Given the description of an element on the screen output the (x, y) to click on. 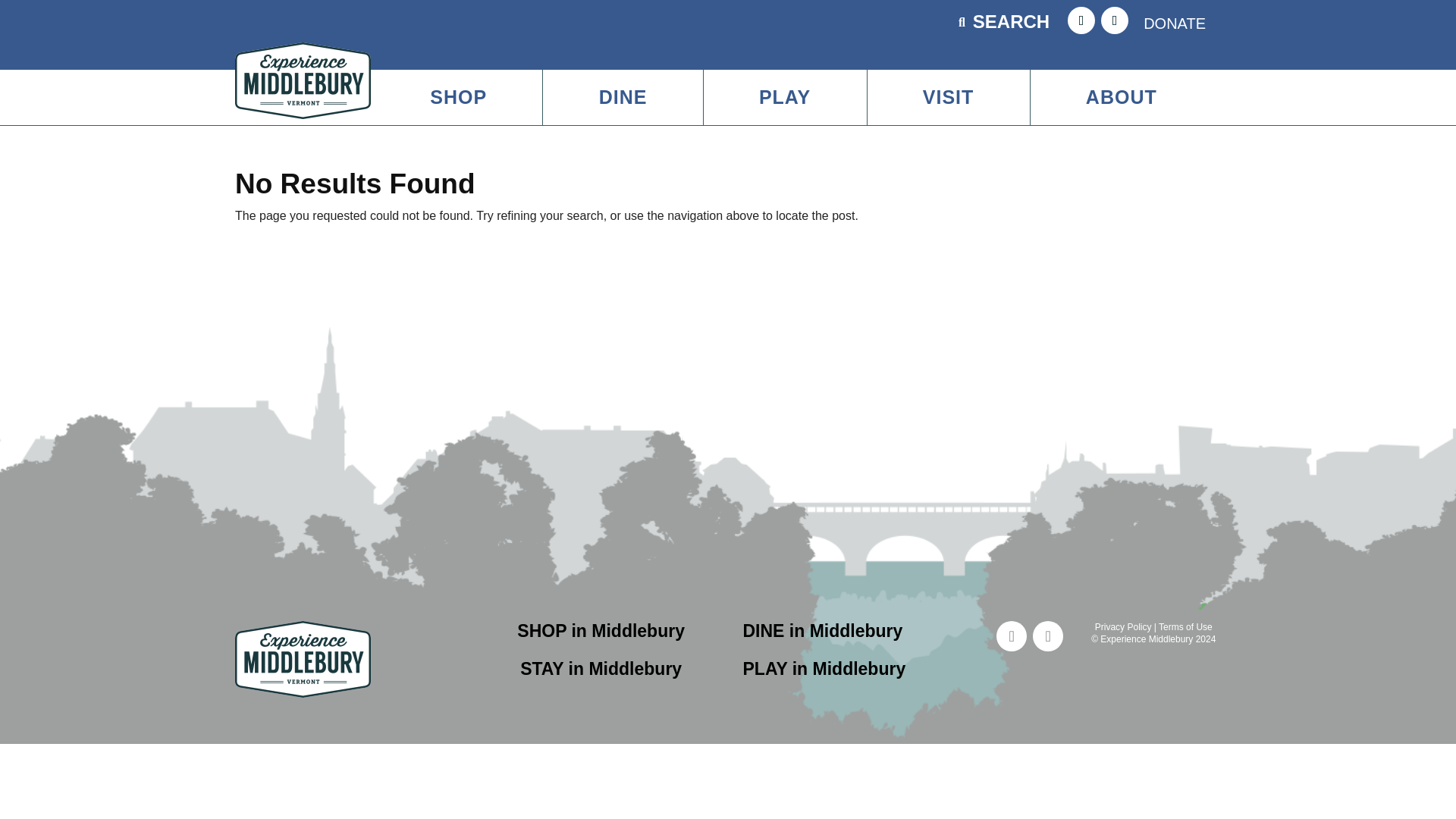
Follow on Instagram (1047, 635)
logo (302, 80)
DINE (622, 97)
logo (302, 658)
Follow on Facebook (1080, 20)
SEARCH (1012, 21)
VISIT (948, 97)
ABOUT (1121, 97)
DONATE (1174, 22)
Follow on Facebook (1010, 635)
Follow on Instagram (1114, 20)
PLAY (784, 97)
SHOP (457, 97)
